Given the description of an element on the screen output the (x, y) to click on. 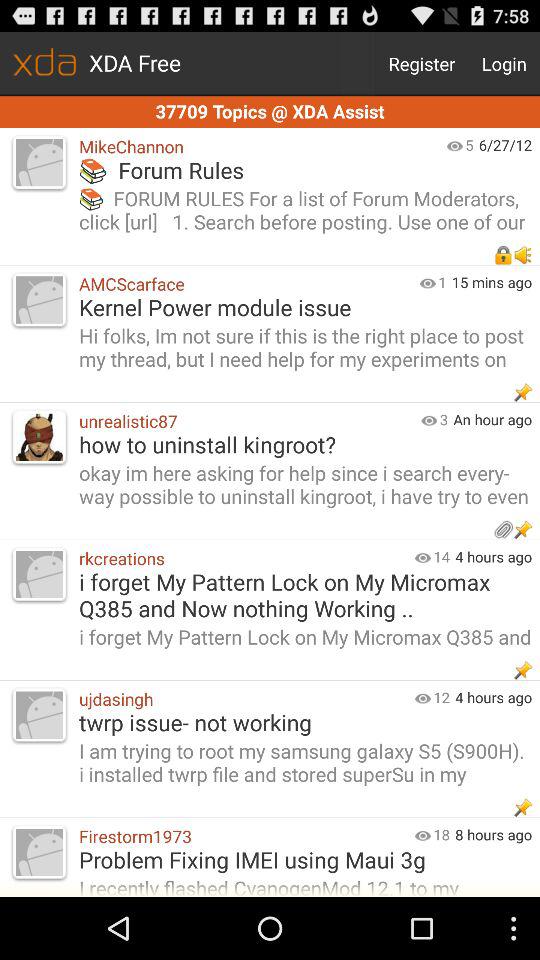
press problem fixing imei app (304, 859)
